Given the description of an element on the screen output the (x, y) to click on. 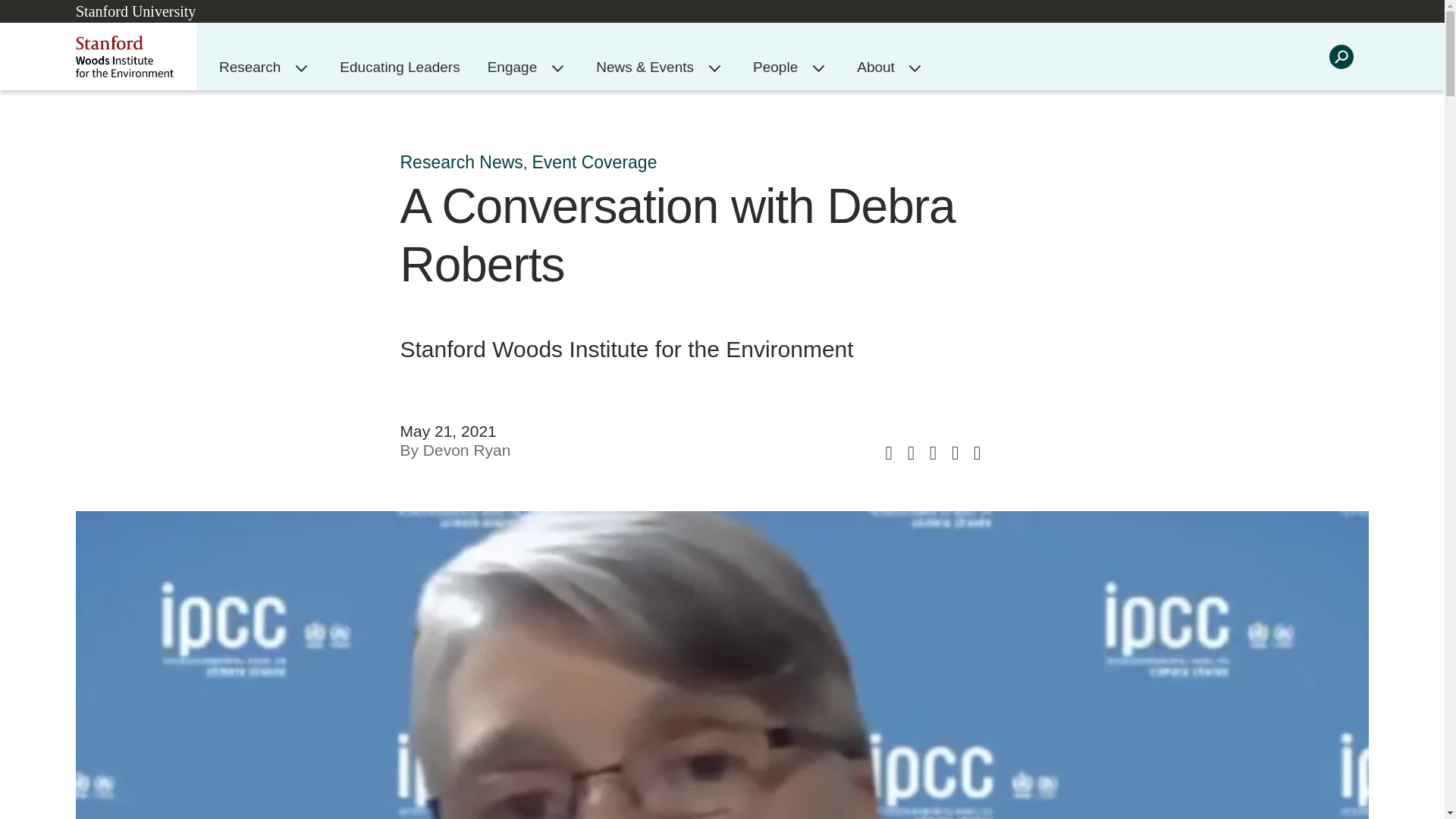
Research (252, 67)
Engage (514, 67)
A listing of people types (777, 67)
